Given the description of an element on the screen output the (x, y) to click on. 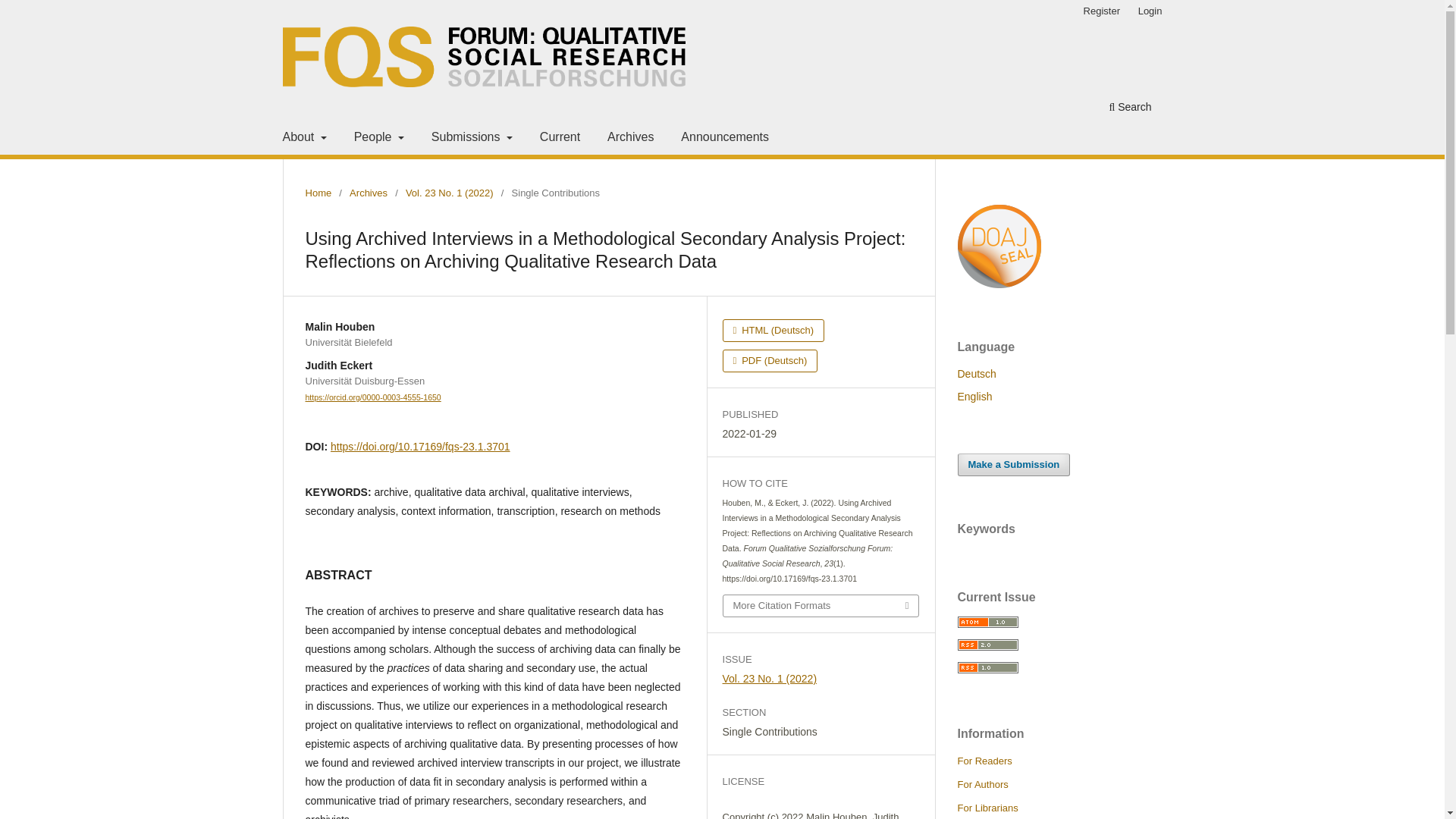
About (303, 139)
Login (1150, 11)
More Citation Formats (820, 605)
Announcements (724, 139)
Archives (630, 139)
People (378, 139)
Search (1129, 108)
Submissions (471, 139)
Home (317, 192)
Current (560, 139)
Archives (368, 192)
Register (1100, 11)
